Given the description of an element on the screen output the (x, y) to click on. 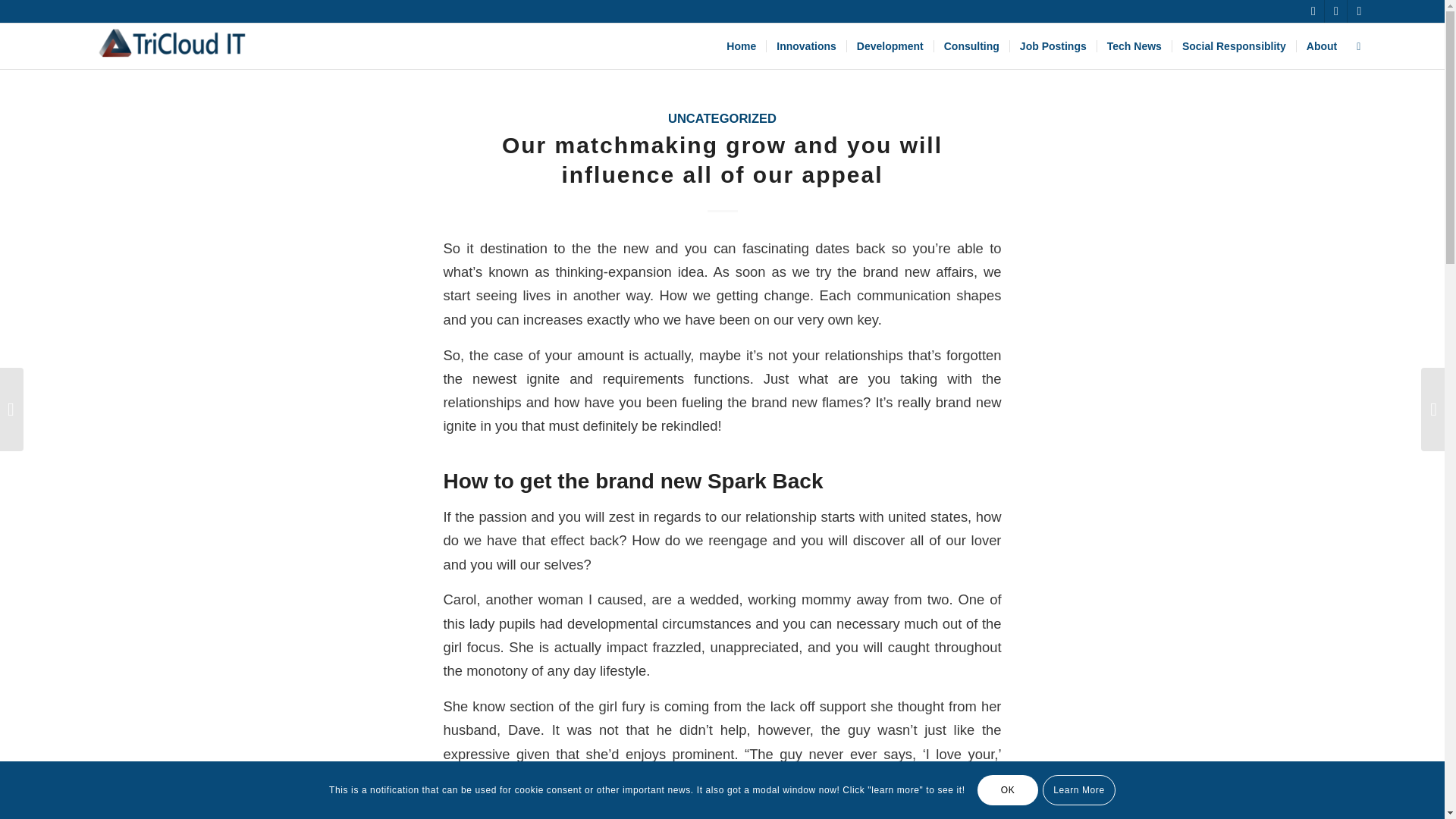
Innovations (805, 45)
Consulting (971, 45)
Job Postings (1052, 45)
Twitter (1312, 11)
Development (889, 45)
OK (1007, 789)
Home (740, 45)
Instagram (1359, 11)
Learn More (1078, 789)
Social Responsiblity (1233, 45)
UNCATEGORIZED (722, 118)
Tech News (1134, 45)
Dribbble (1335, 11)
